Given the description of an element on the screen output the (x, y) to click on. 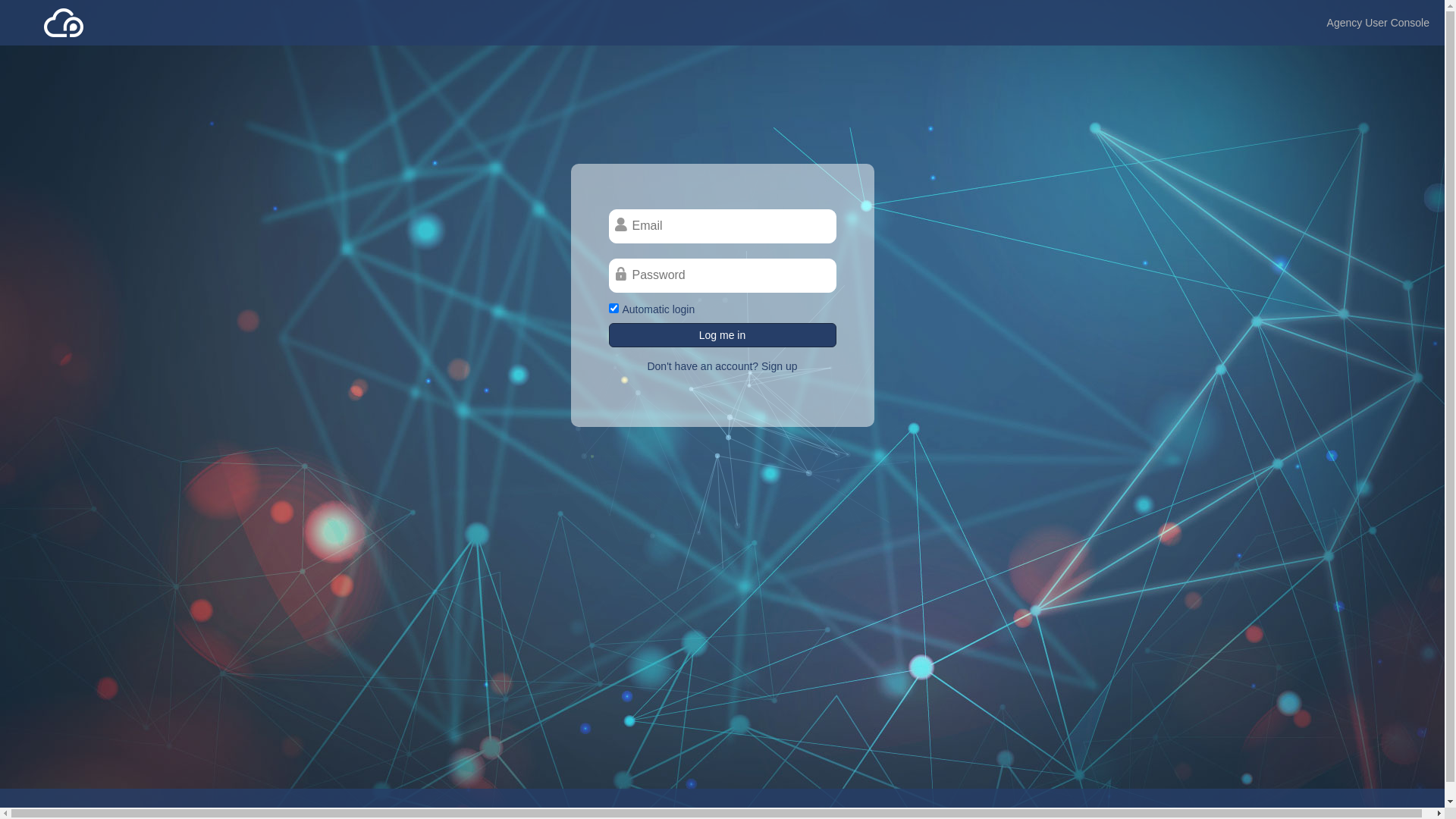
Log me in Element type: text (721, 335)
Agency User Console Element type: text (1378, 22)
 Sign up Element type: text (777, 366)
